Given the description of an element on the screen output the (x, y) to click on. 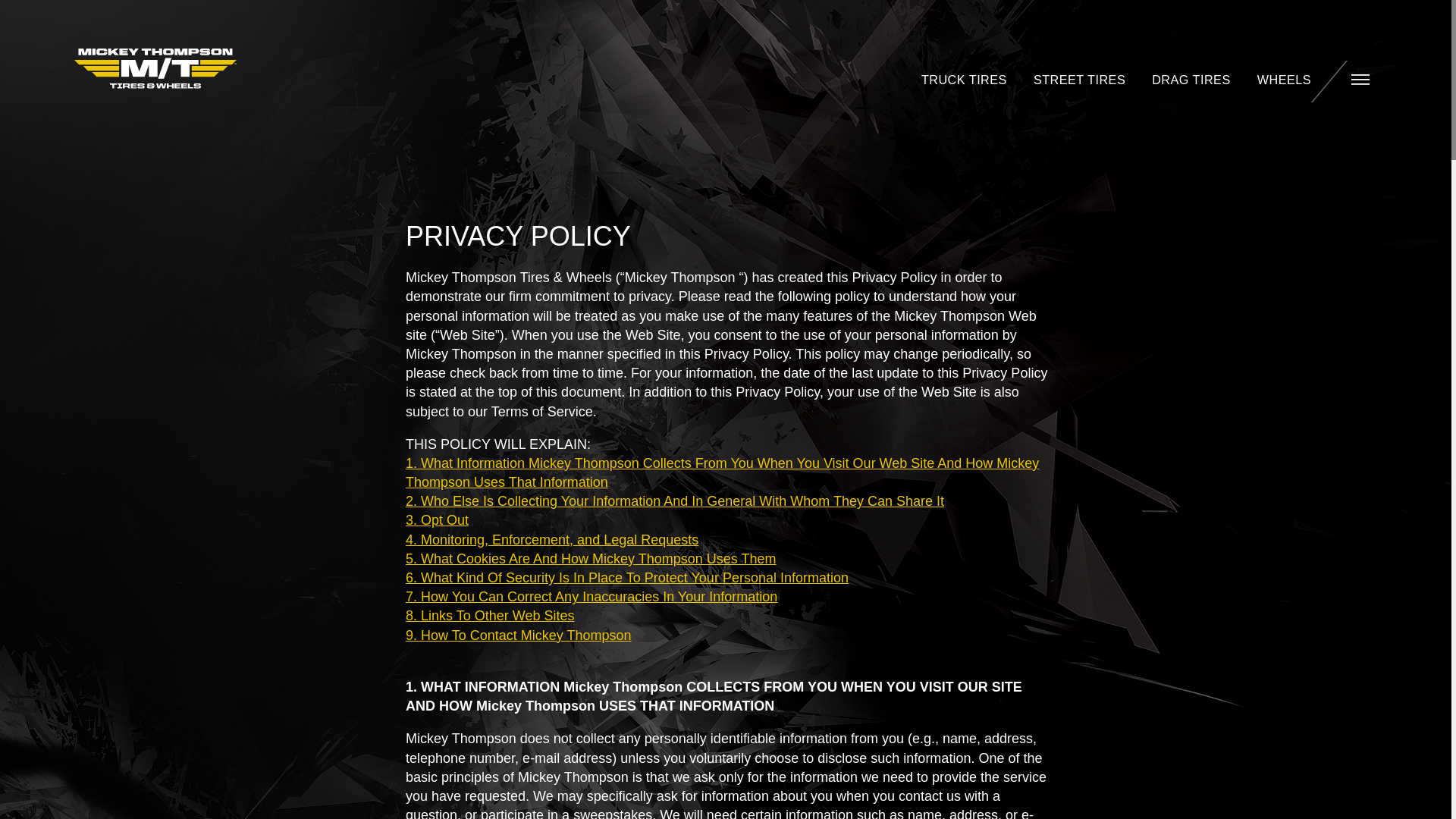
STREET TIRES (1079, 79)
DRAG TIRES (1191, 79)
WHEELS (1284, 79)
Mickey Thompson (154, 68)
TRUCK TIRES (964, 79)
